Given the description of an element on the screen output the (x, y) to click on. 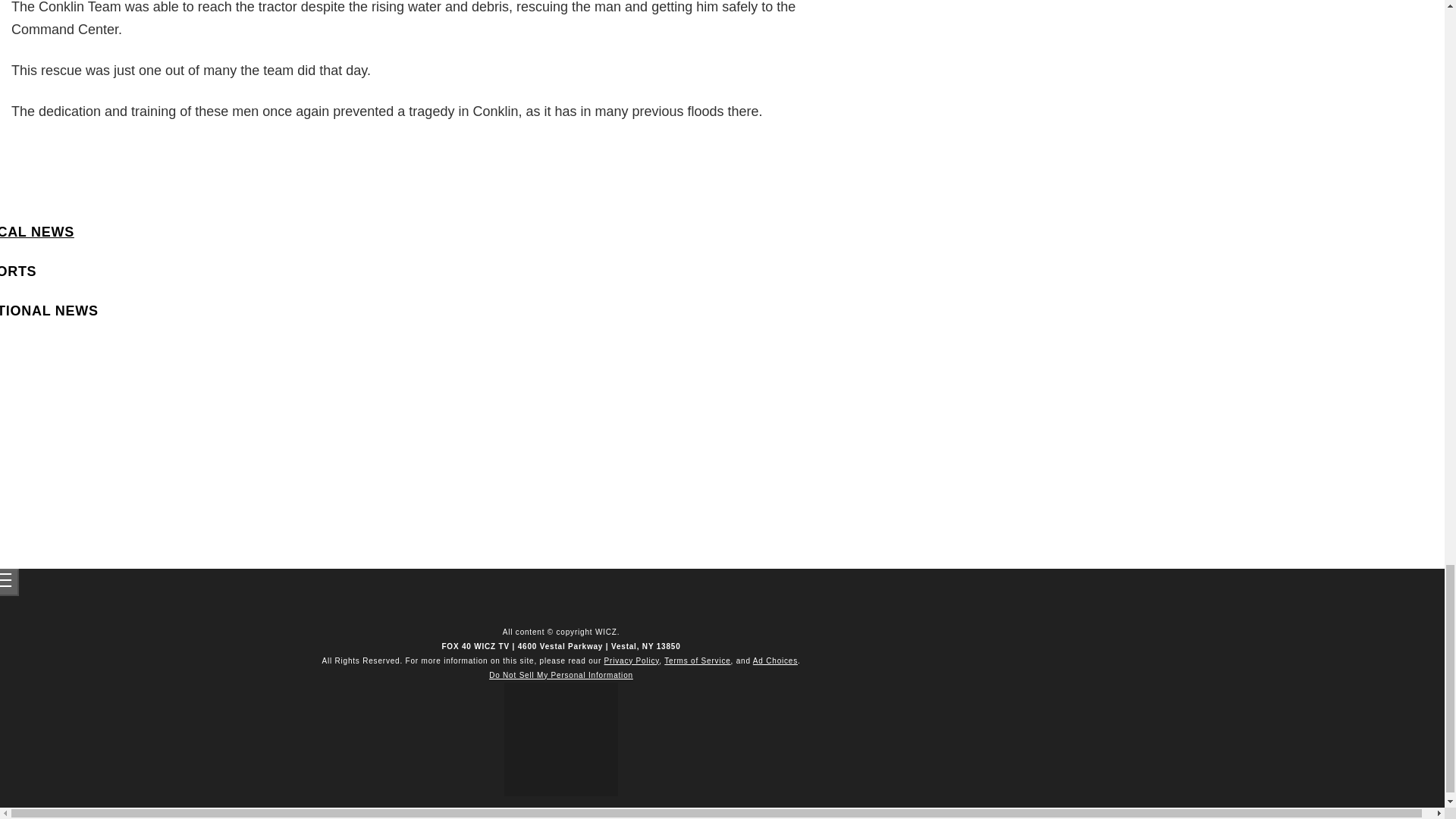
3rd party ad content (136, 443)
